Given the description of an element on the screen output the (x, y) to click on. 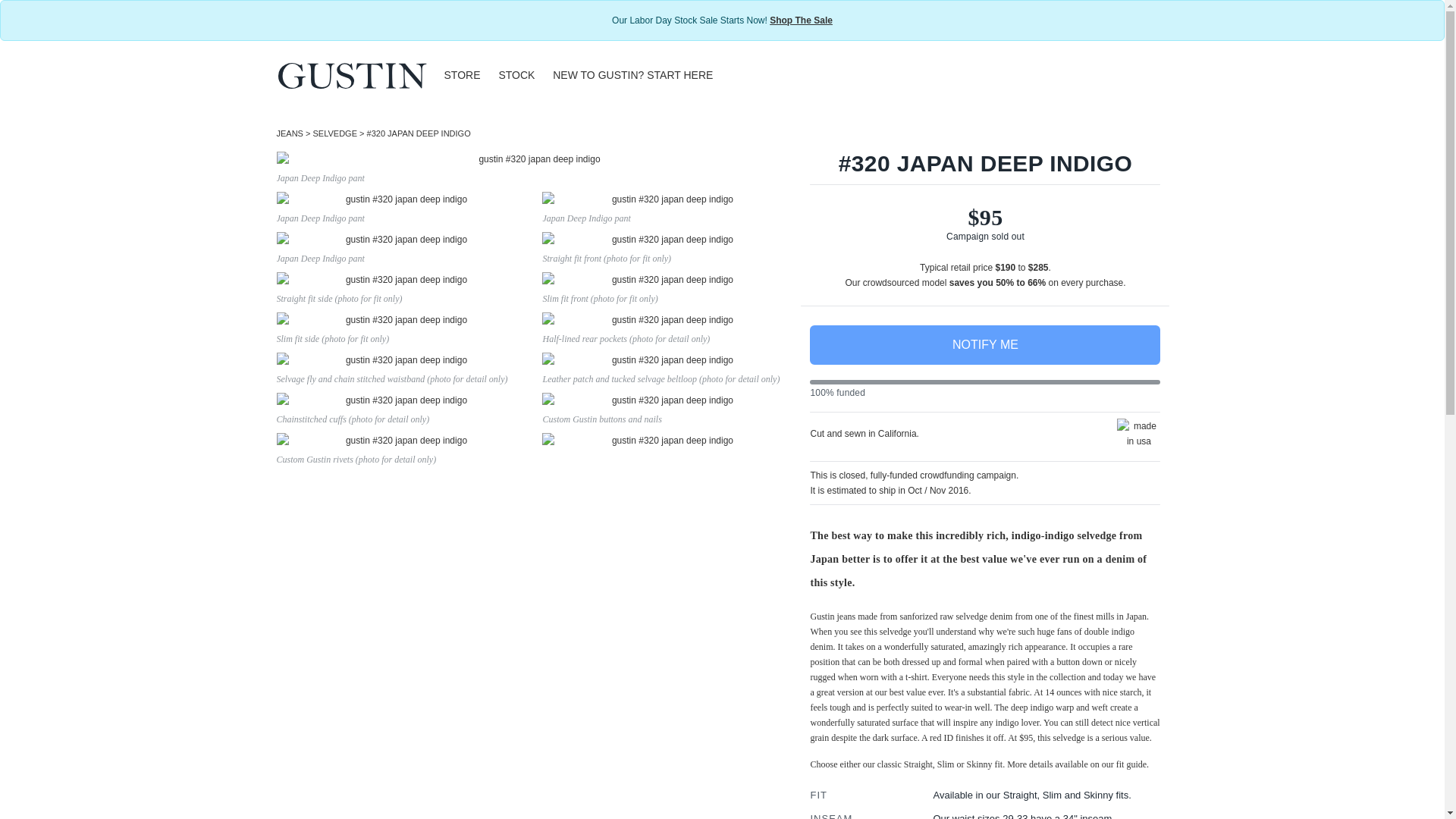
STORE (461, 75)
NEW TO GUSTIN? START HERE (632, 75)
Artboard 1 (352, 74)
Shop The Sale (801, 20)
STOCK (515, 75)
Artboard 1 (352, 74)
